Given the description of an element on the screen output the (x, y) to click on. 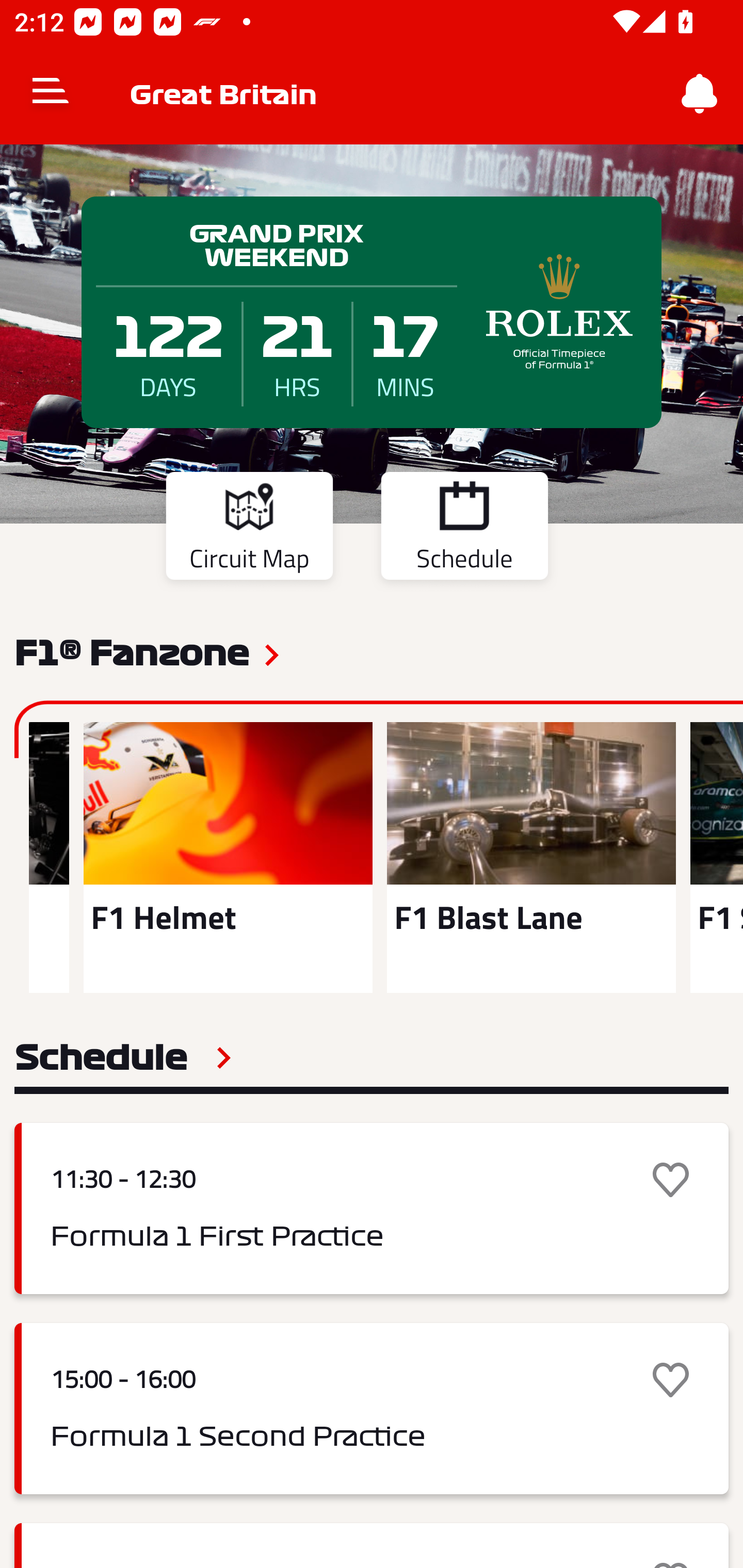
Navigate up (50, 93)
Notifications (699, 93)
Circuit Map (249, 528)
Schedule (464, 528)
F1® Fanzone (131, 651)
F1 Helmet (227, 857)
F1 Blast Lane (531, 857)
Schedule (122, 1057)
11:30 - 12:30 Formula 1 First Practice (371, 1207)
15:00 - 16:00 Formula 1 Second Practice (371, 1408)
